Given the description of an element on the screen output the (x, y) to click on. 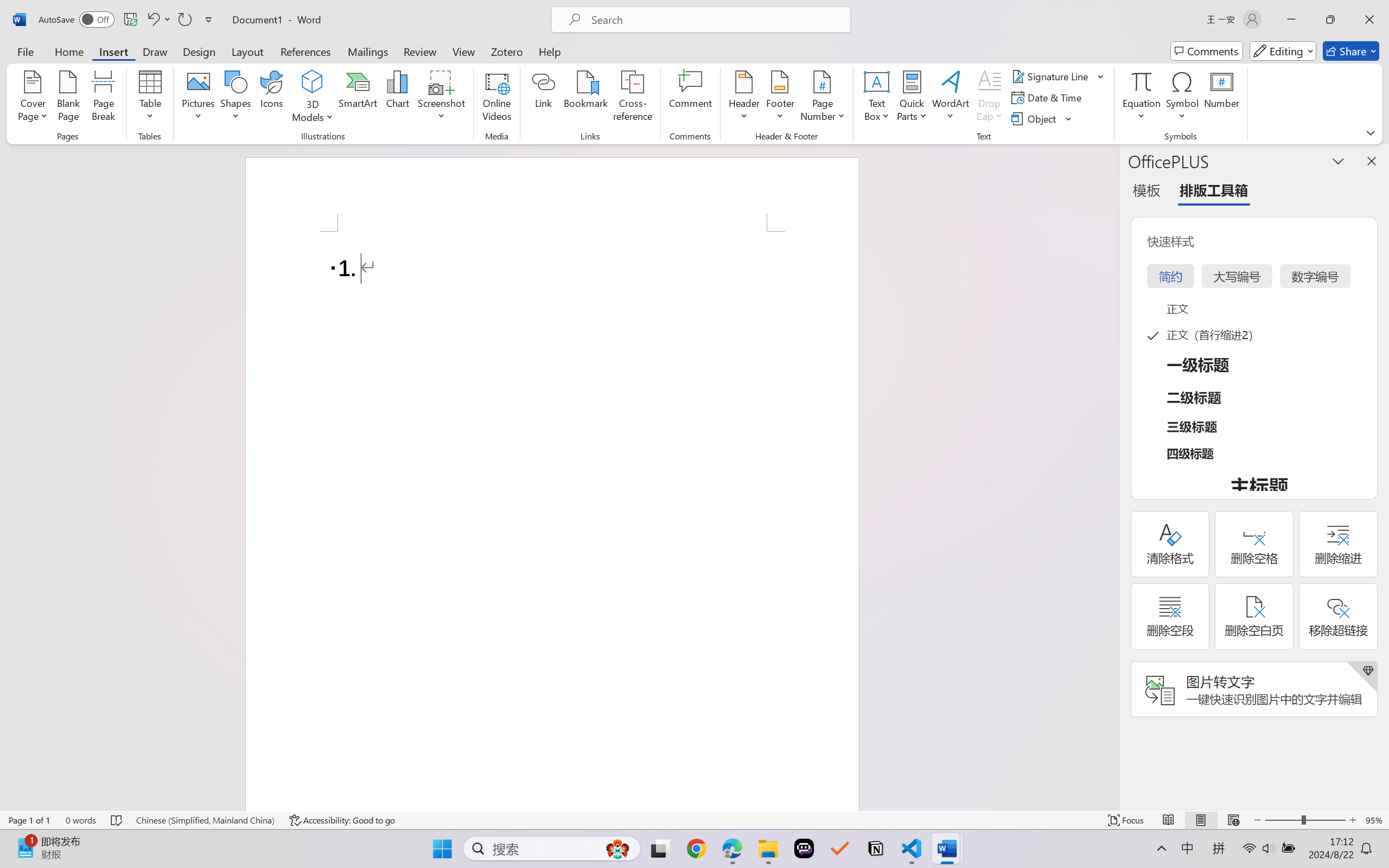
Text Box (876, 97)
Equation (1141, 97)
Bookmark... (585, 97)
Header (743, 97)
Page 1 content (552, 520)
Undo Number Default (158, 19)
